Given the description of an element on the screen output the (x, y) to click on. 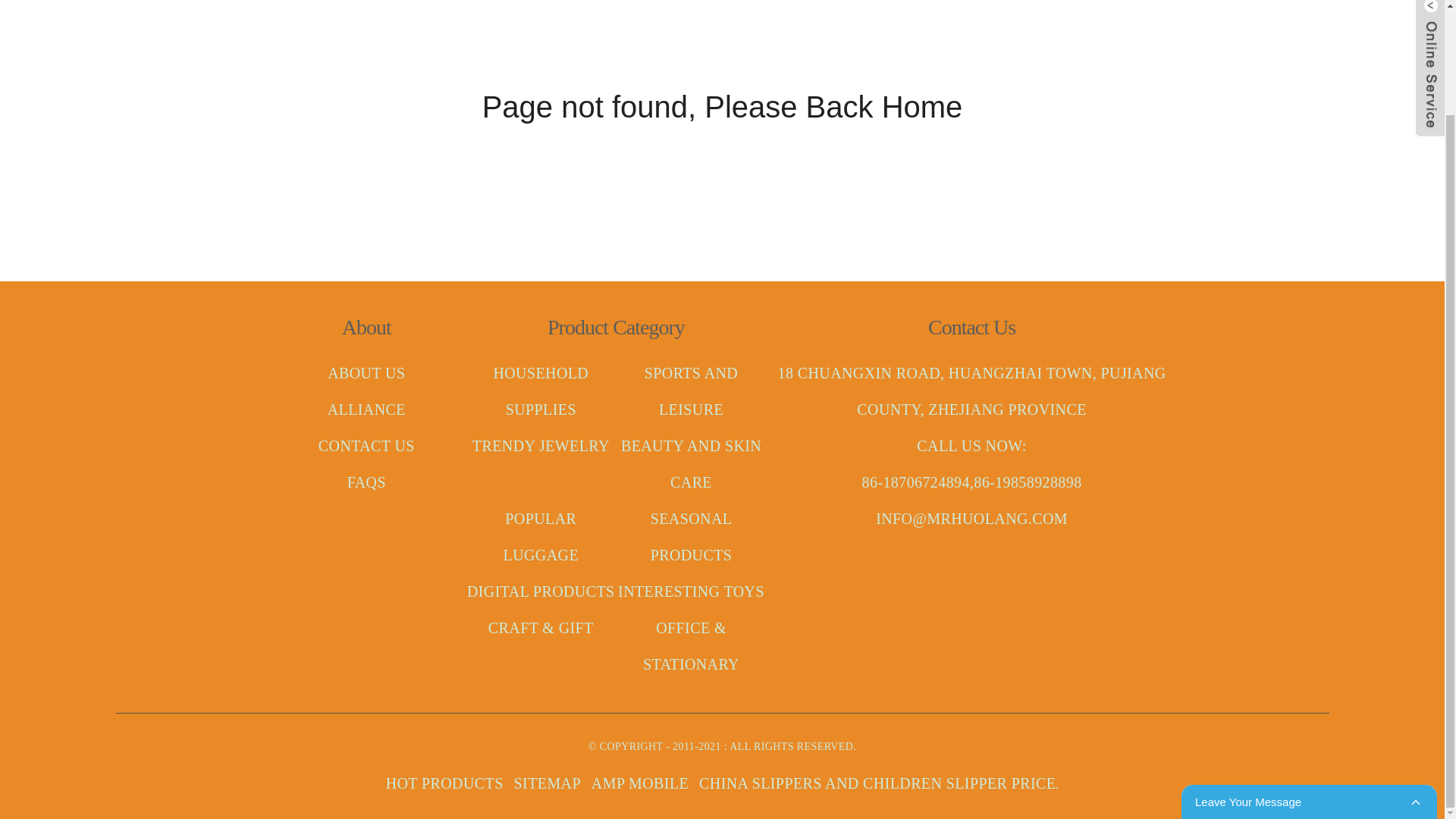
ABOUT US (367, 372)
FAQS (366, 482)
ALLIANCE (366, 409)
TRENDY JEWELRY (542, 445)
CONTACT US (366, 445)
HOUSEHOLD SUPPLIES (545, 390)
SPORTS AND LEISURE (695, 390)
Page not found, Please Back Home (721, 106)
China Slippers and Children Slipper price (627, 782)
